Given the description of an element on the screen output the (x, y) to click on. 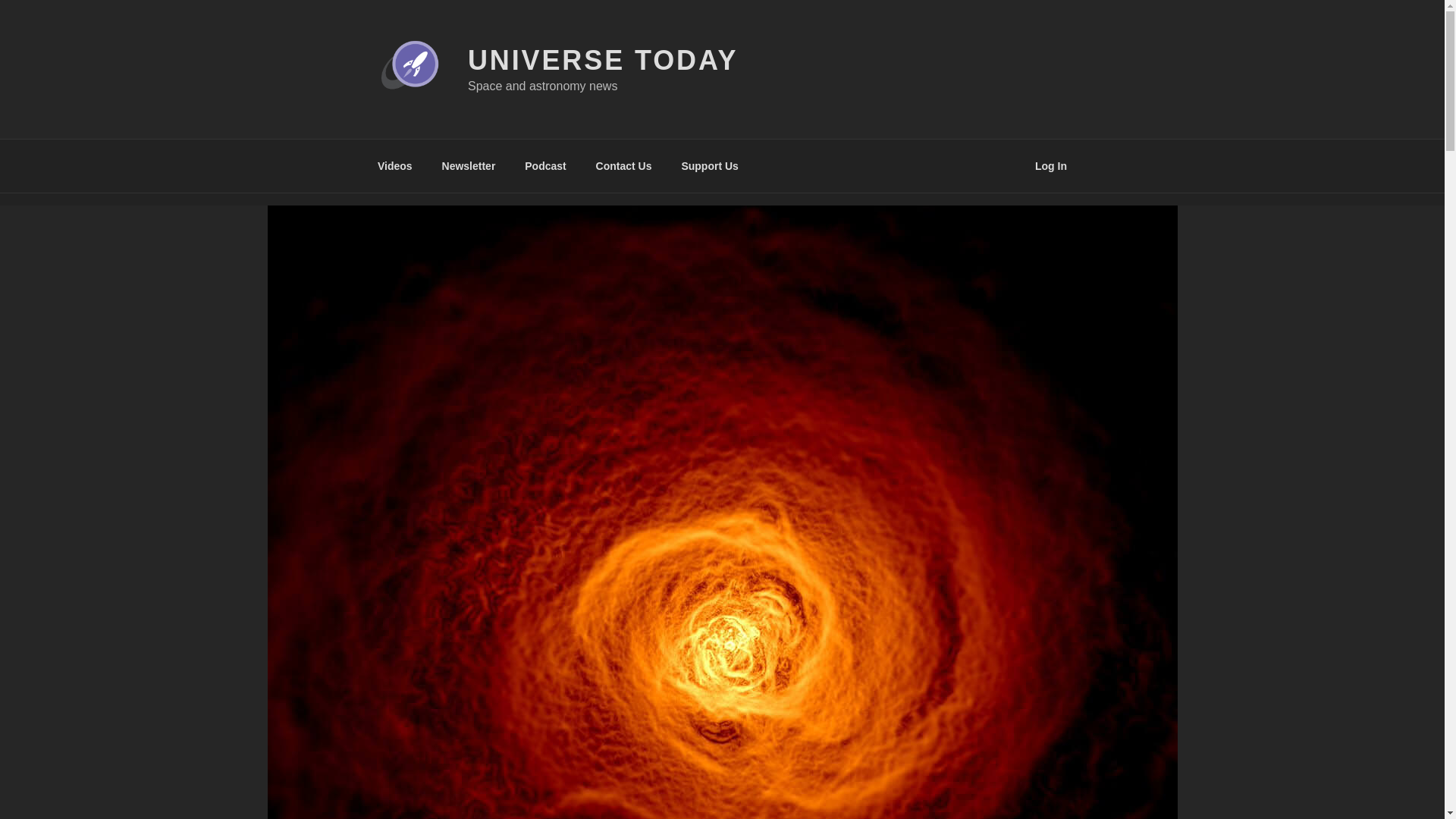
Videos (394, 165)
Podcast (545, 165)
Log In (1051, 165)
Newsletter (468, 165)
Contact Us (623, 165)
Support Us (709, 165)
UNIVERSE TODAY (602, 60)
